Given the description of an element on the screen output the (x, y) to click on. 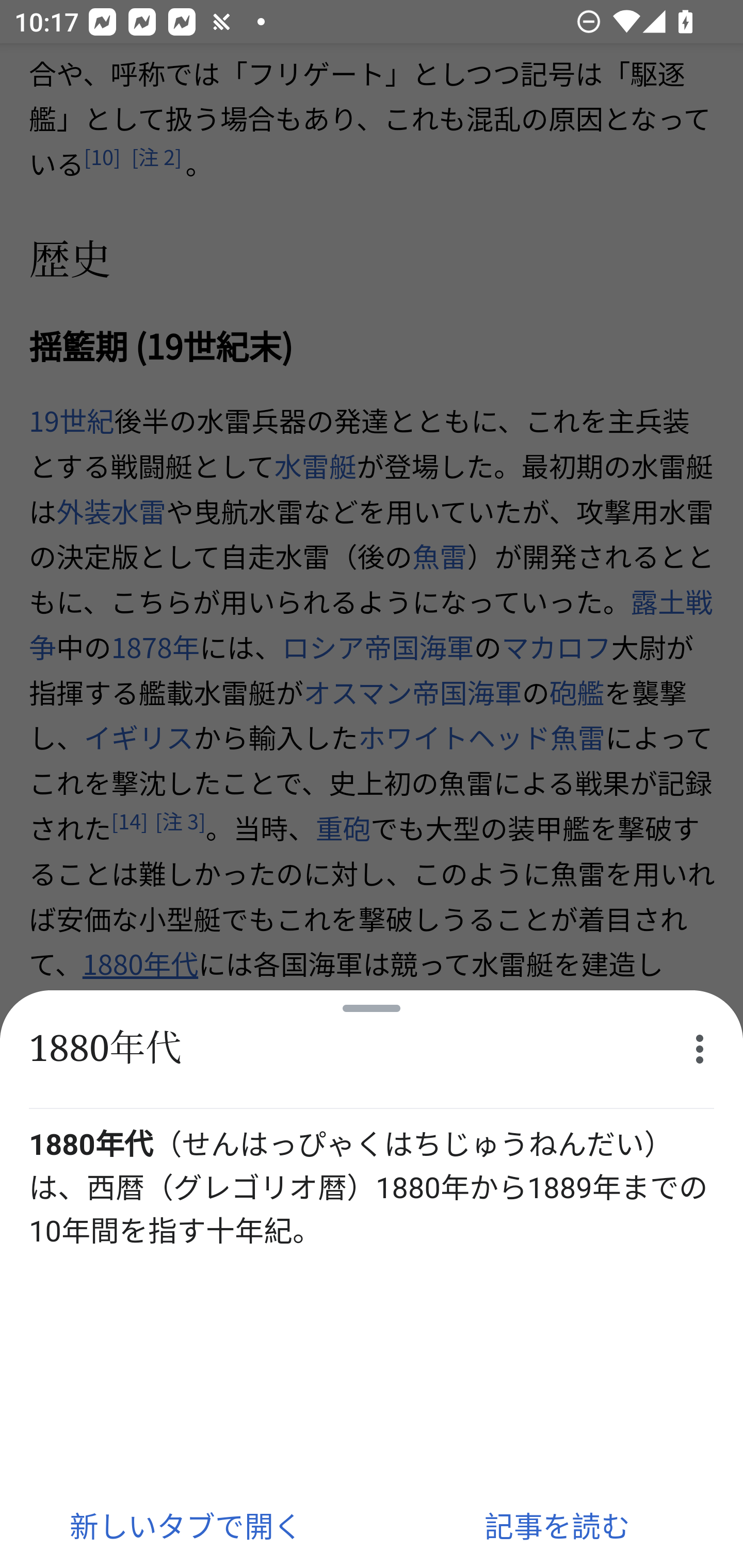
1880年代 More options (371, 1049)
More options (699, 1048)
新しいタブで開く (185, 1524)
記事を読む (557, 1524)
